Given the description of an element on the screen output the (x, y) to click on. 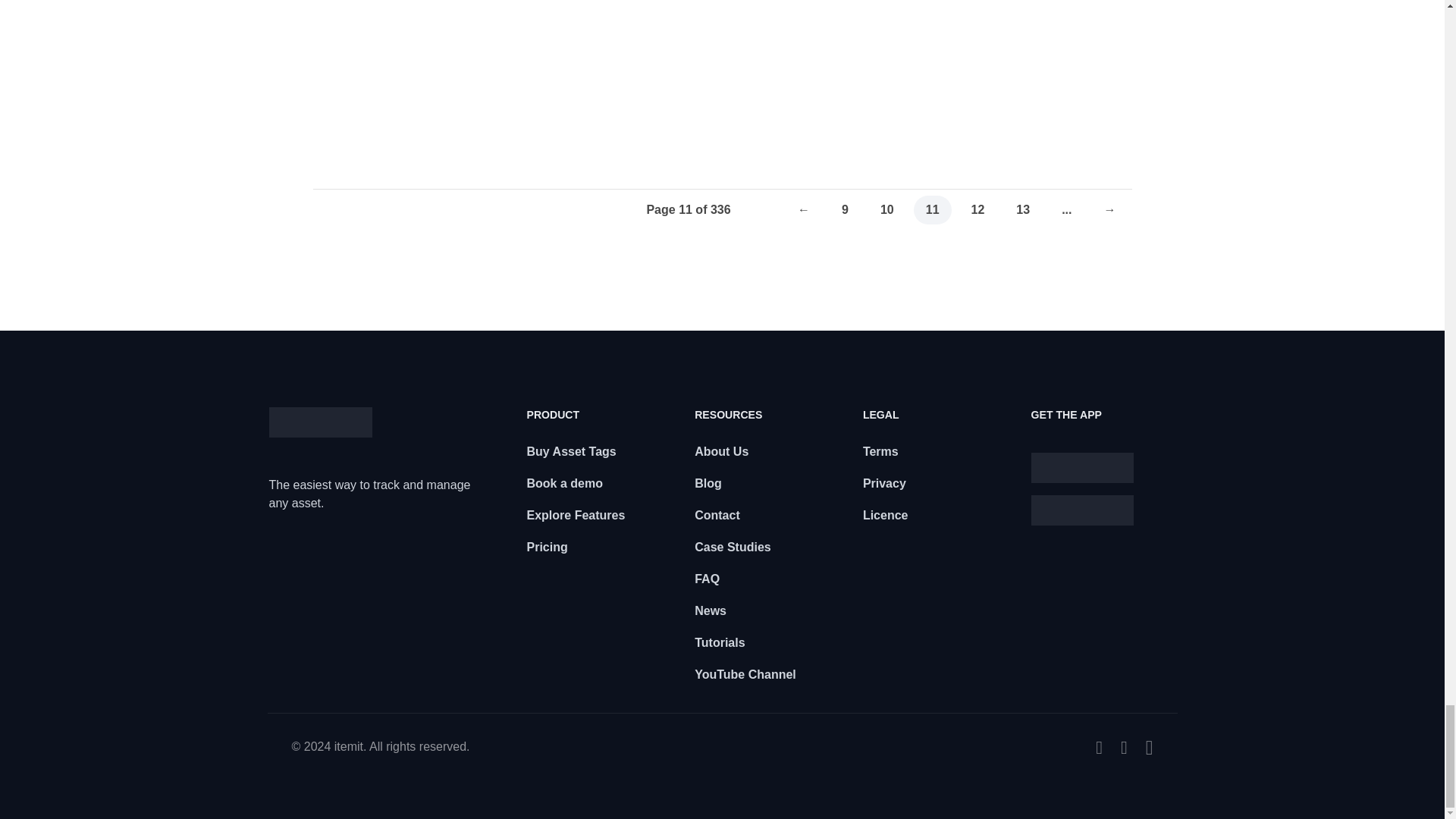
Google play button (1082, 510)
itemit-logo-alt (319, 422)
Page 12 (978, 209)
appstore button (1082, 467)
Page 10 (886, 209)
Page 9 (844, 209)
Page 13 (1023, 209)
